Given the description of an element on the screen output the (x, y) to click on. 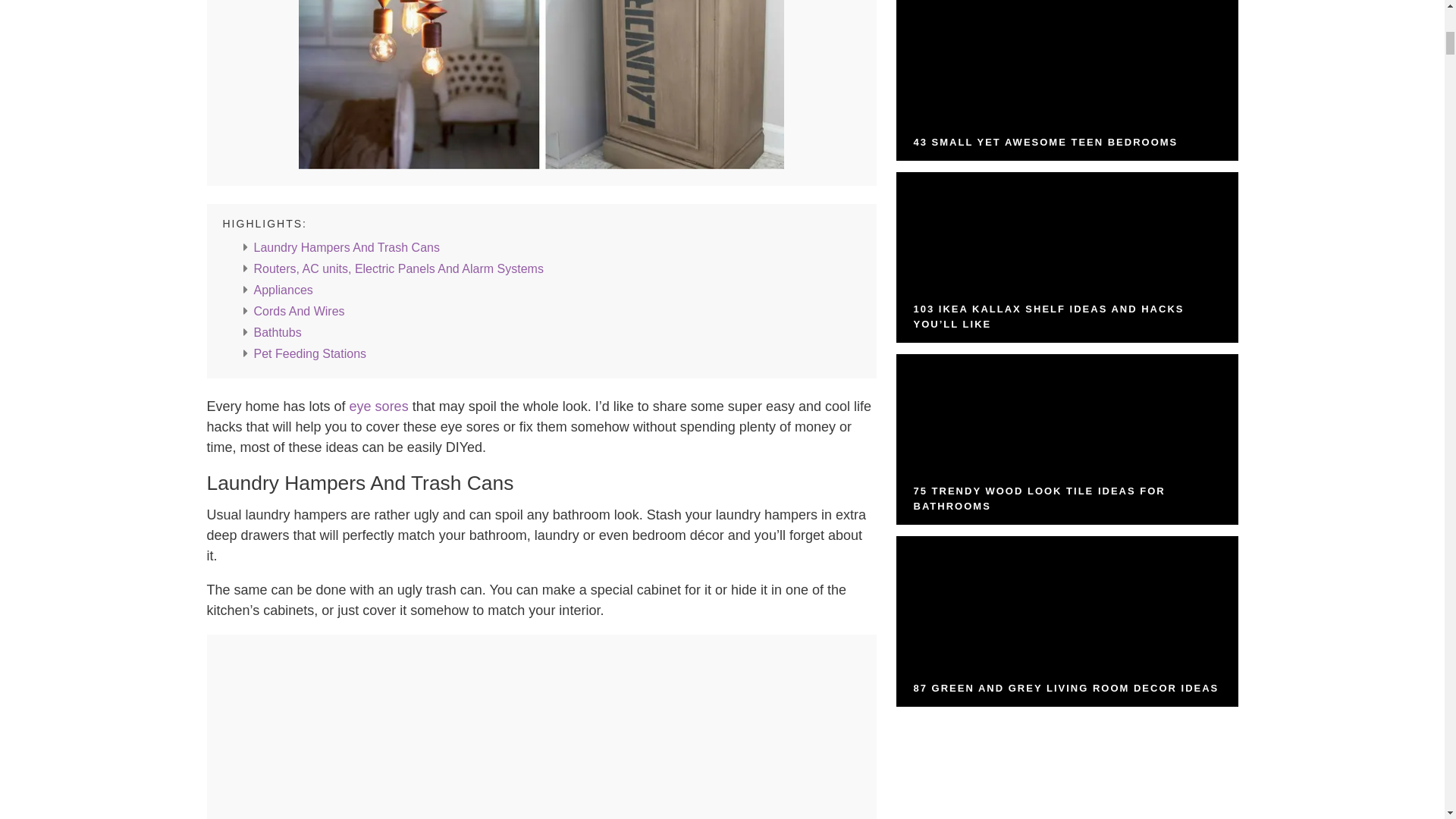
Bathtubs (277, 332)
Pet Feeding Stations (309, 353)
eye sores (379, 406)
tilt out laundry hampers in neat white drawers (541, 732)
Cords And Wires (298, 310)
Routers, AC units, Electric Panels And Alarm Systems (398, 268)
Laundry Hampers And Trash Cans (346, 246)
Appliances (283, 289)
smart ways to hide eye sores in your home (541, 164)
smart ways to hide eye sores in your home (541, 84)
